Given the description of an element on the screen output the (x, y) to click on. 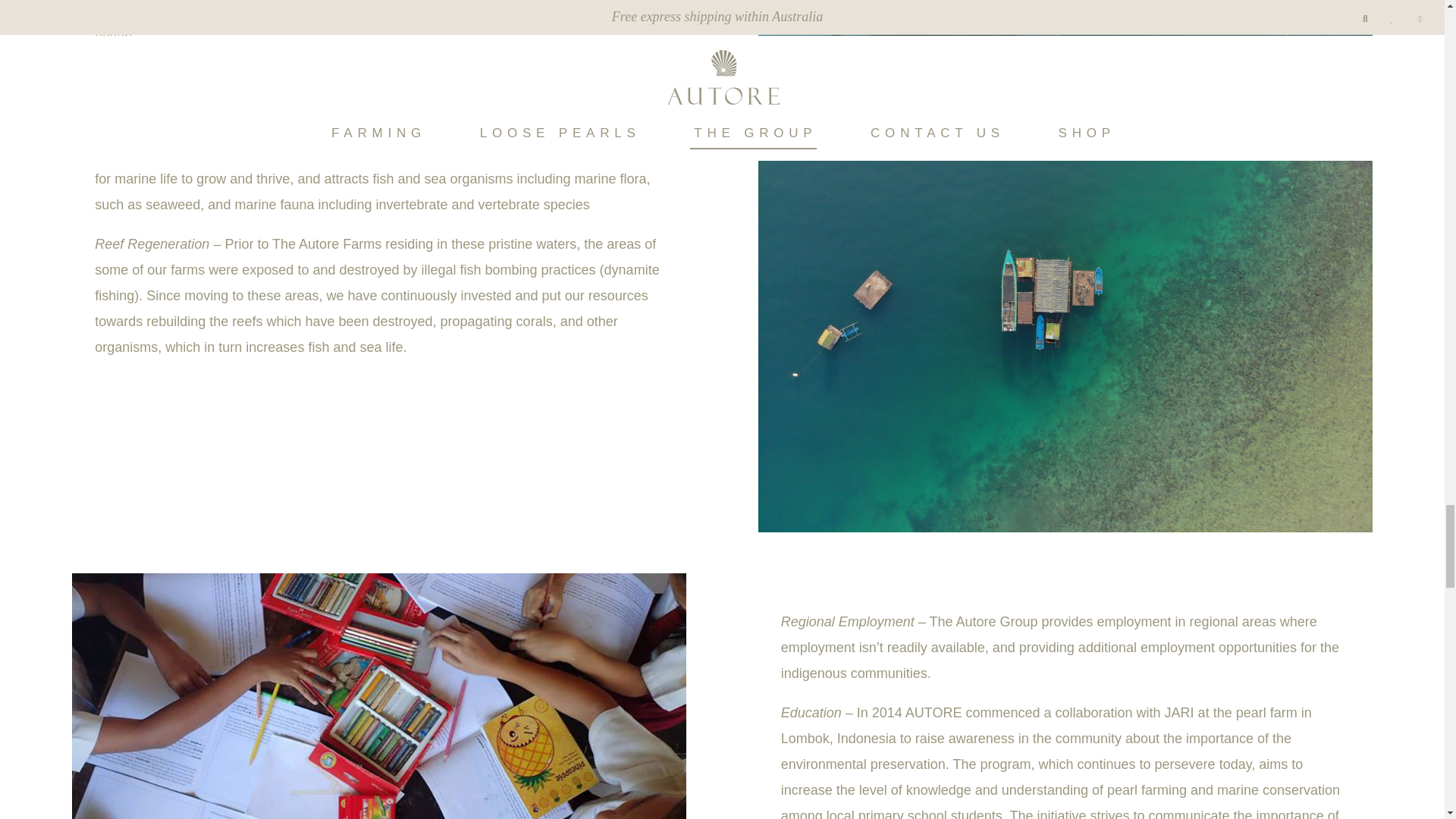
csr-2 (1065, 18)
